Given the description of an element on the screen output the (x, y) to click on. 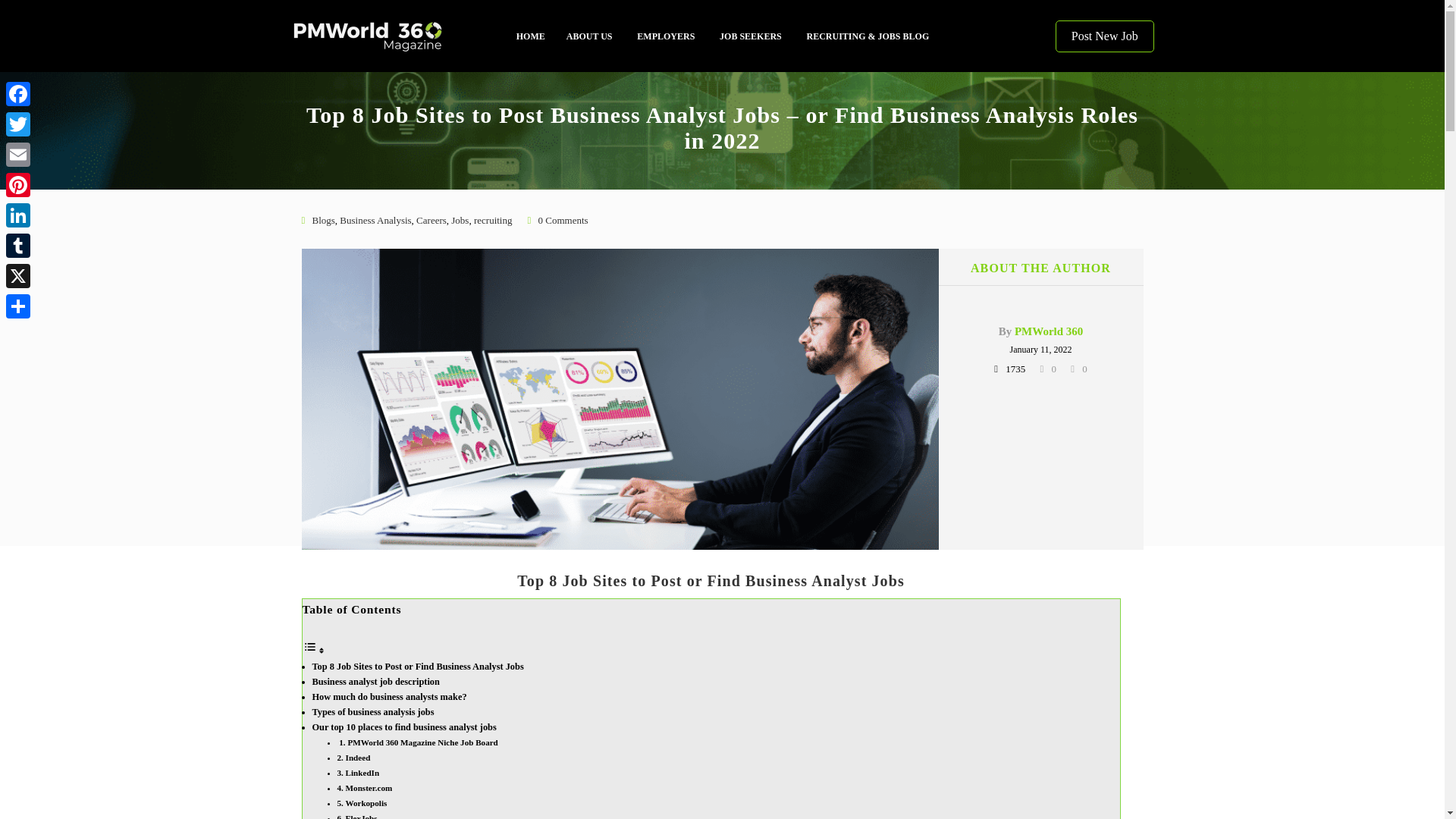
recruiting (493, 220)
0 Comments (562, 220)
Top 8 Job Sites to Post or Find Business Analyst Jobs (418, 665)
Jobs (459, 220)
JOB SEEKERS (750, 35)
Blogs (323, 220)
How much do business analysts make? (390, 696)
5. Workopolis (361, 802)
2. Indeed (352, 757)
PMWorld 360 Magazine Job board (397, 36)
